Given the description of an element on the screen output the (x, y) to click on. 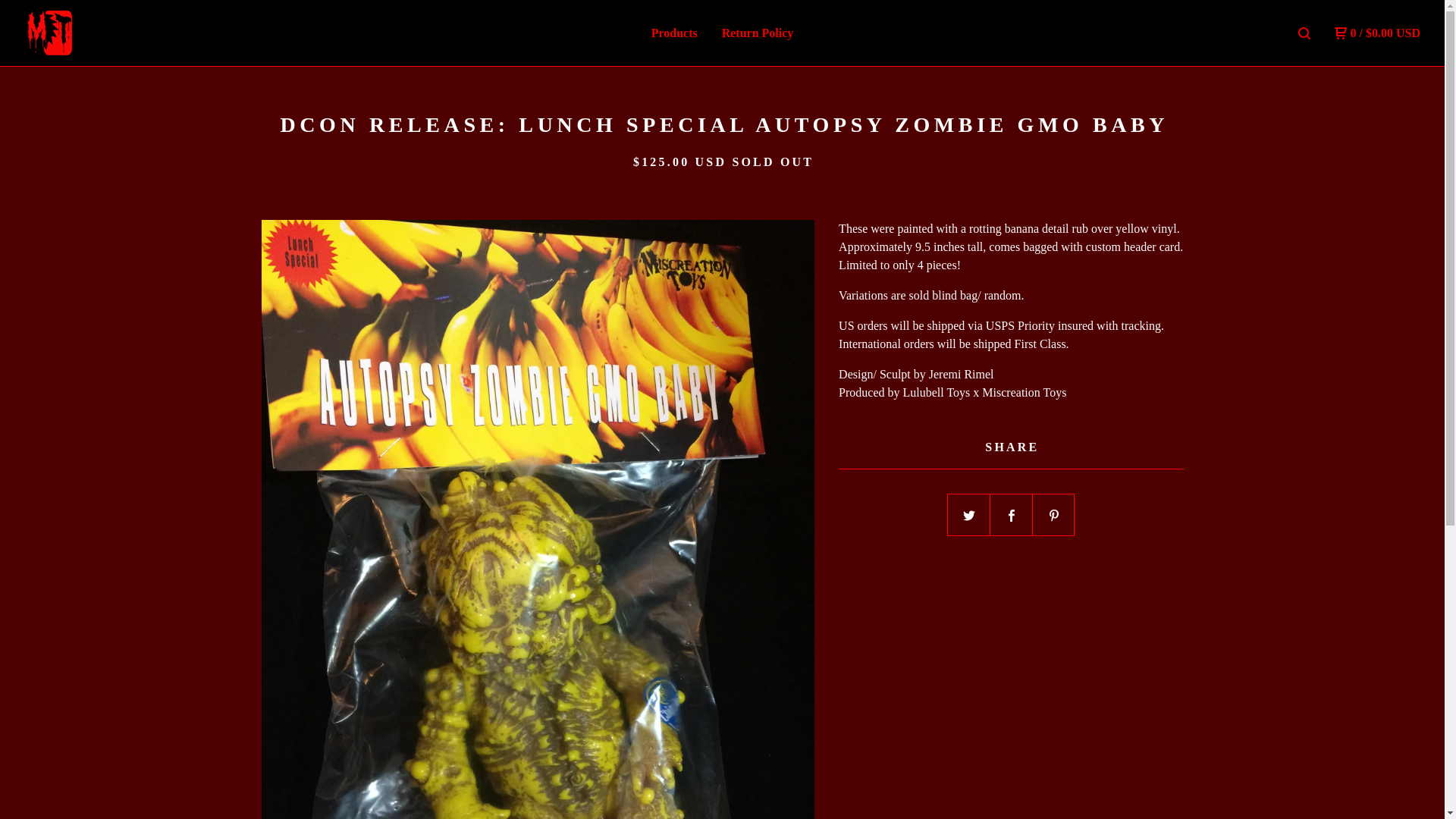
Products (673, 33)
Share on Facebook (1011, 515)
Miscreation Toys (103, 32)
View Return Policy  (757, 33)
Pin (1053, 515)
Share on Twitter (968, 515)
Return Policy (757, 33)
